Given the description of an element on the screen output the (x, y) to click on. 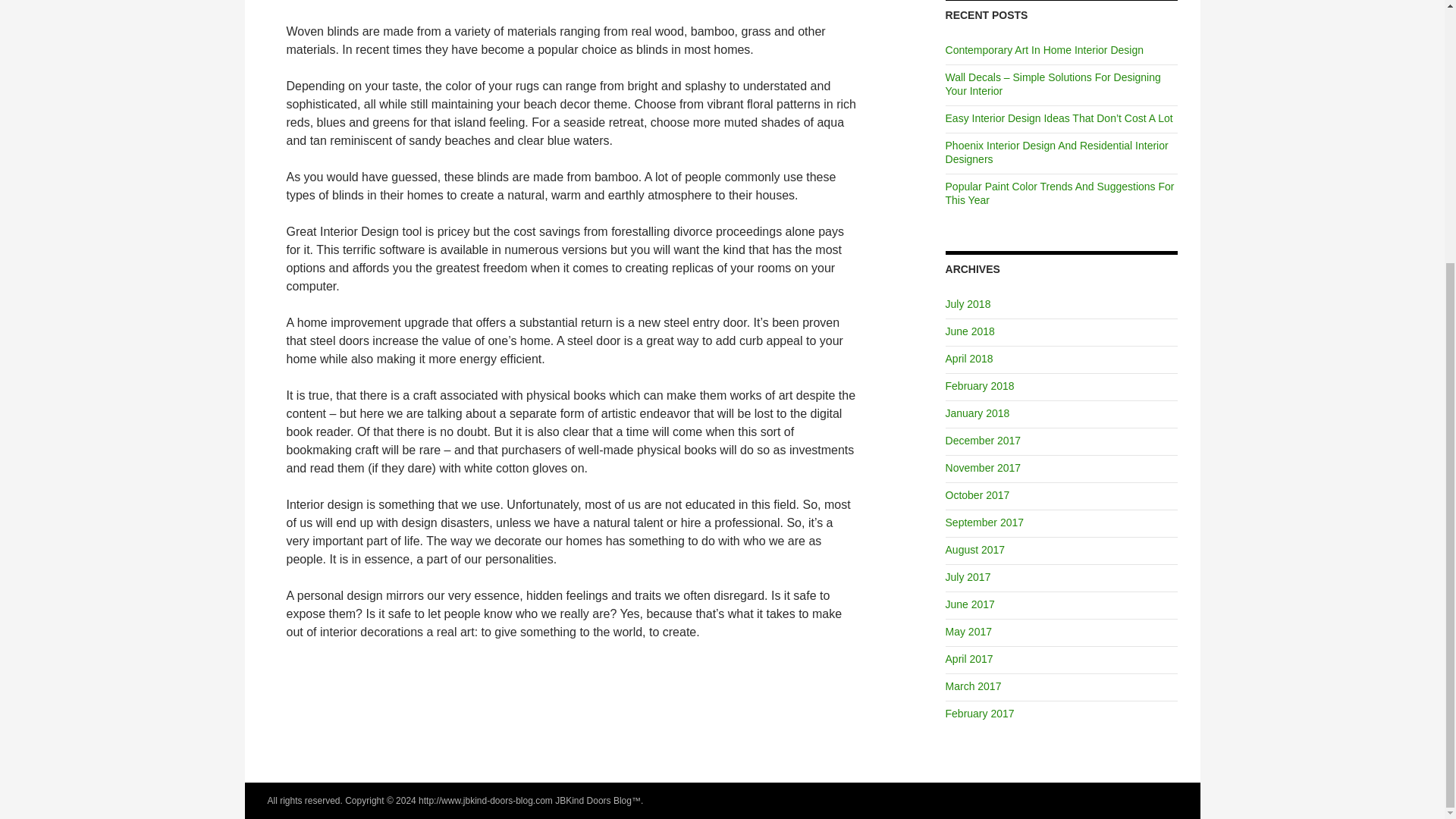
Popular Paint Color Trends And Suggestions For This Year (1059, 193)
October 2017 (977, 494)
August 2017 (975, 549)
January 2018 (977, 413)
April 2018 (968, 358)
July 2018 (967, 304)
March 2017 (972, 686)
February 2017 (979, 713)
July 2017 (967, 576)
June 2018 (969, 331)
